Given the description of an element on the screen output the (x, y) to click on. 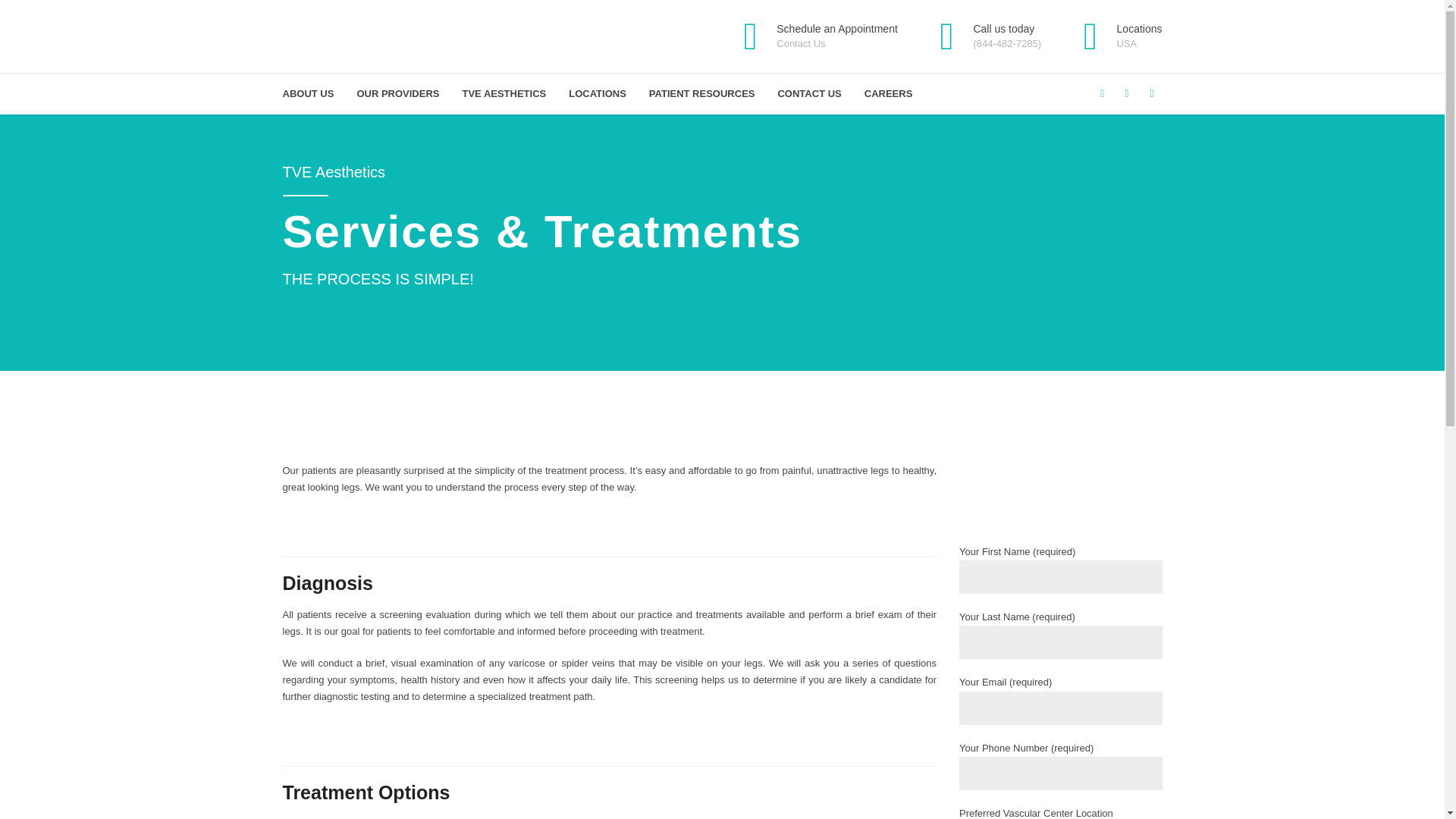
OUR PROVIDERS (397, 93)
ABOUT US (813, 35)
PATIENT RESOURCES (1114, 35)
TVE AESTHETICS (307, 93)
LOCATIONS (702, 93)
